Given the description of an element on the screen output the (x, y) to click on. 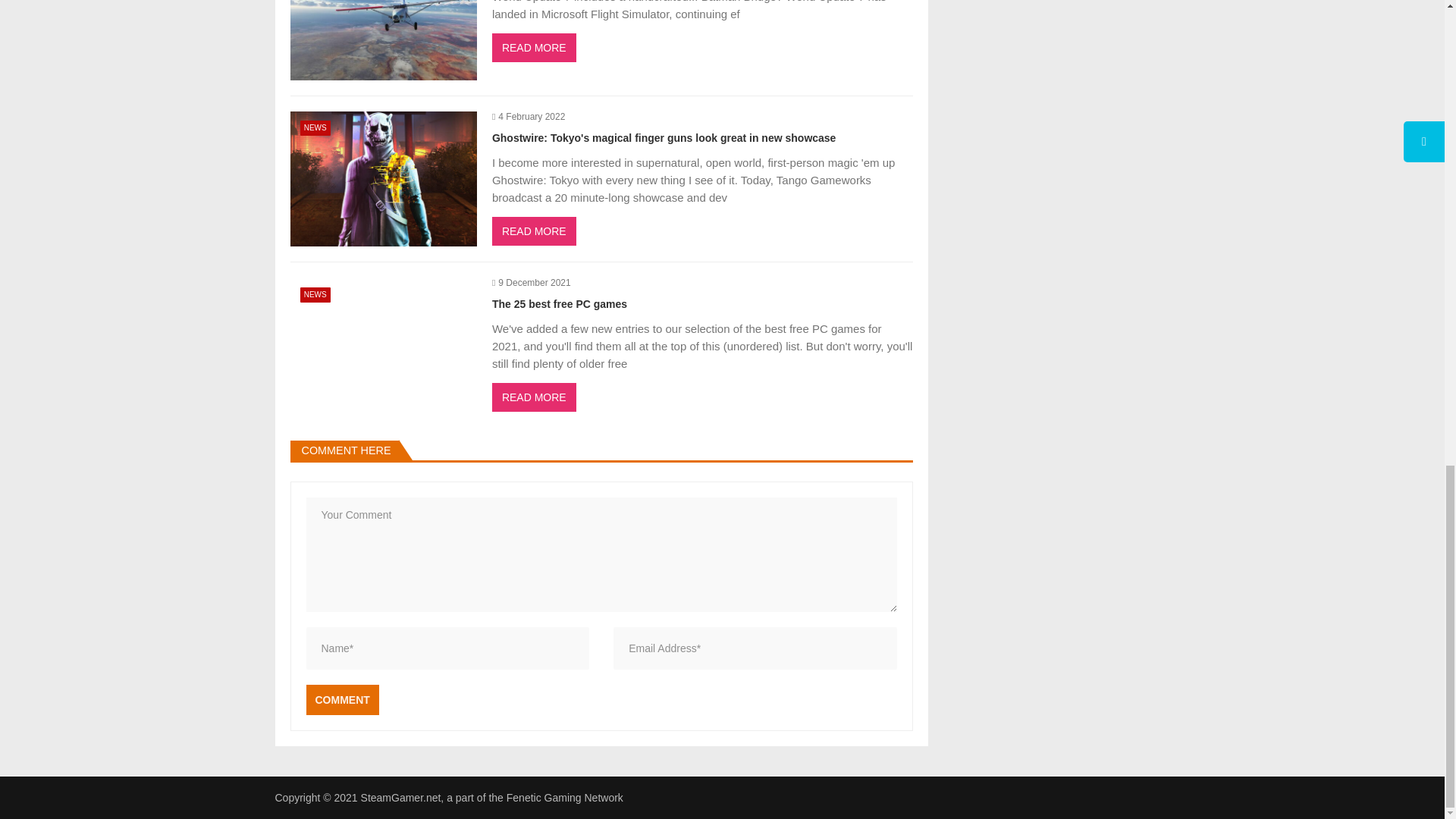
Comment (341, 699)
READ MORE (534, 47)
NEWS (314, 127)
